Given the description of an element on the screen output the (x, y) to click on. 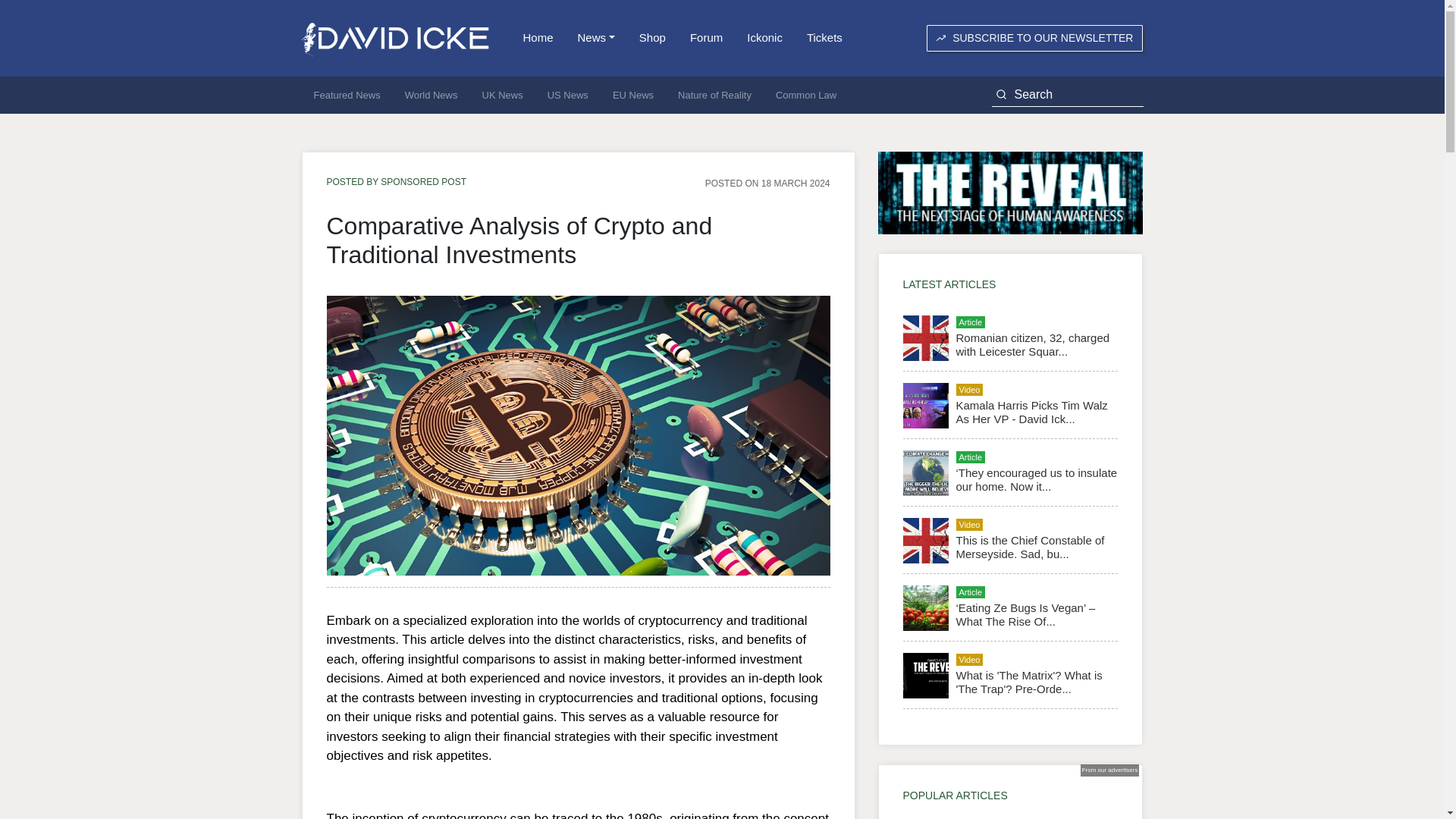
Forum (706, 37)
Nature of Reality (713, 94)
EU News (632, 94)
Featured News (347, 94)
Tickets (824, 37)
US News (567, 94)
Romanian citizen, 32, charged with Leicester Squar... (1032, 344)
Kamala Harris Picks Tim Walz As Her VP - David Icke Reacts (1030, 411)
News (596, 37)
